Given the description of an element on the screen output the (x, y) to click on. 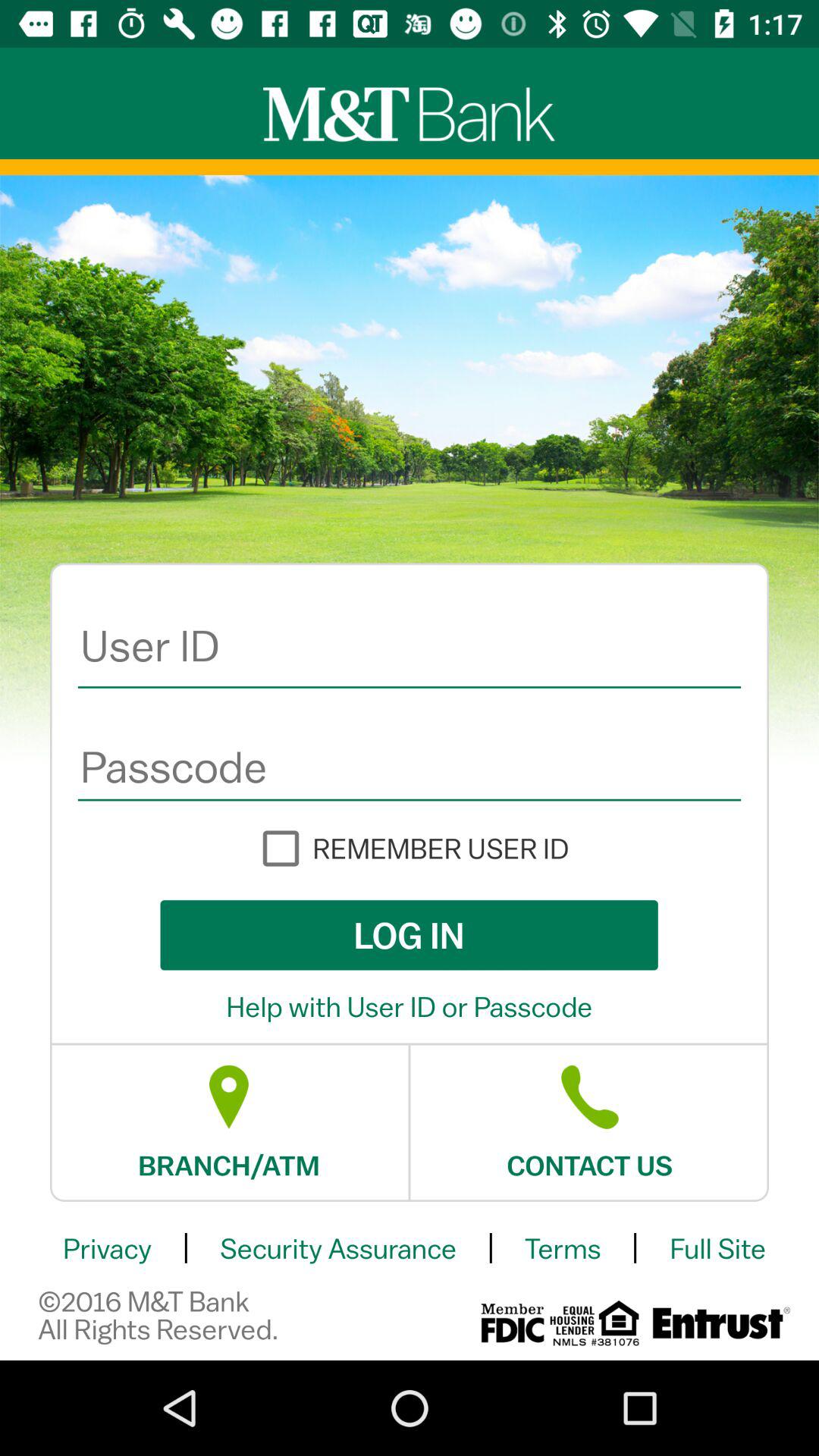
press full site icon (717, 1247)
